Given the description of an element on the screen output the (x, y) to click on. 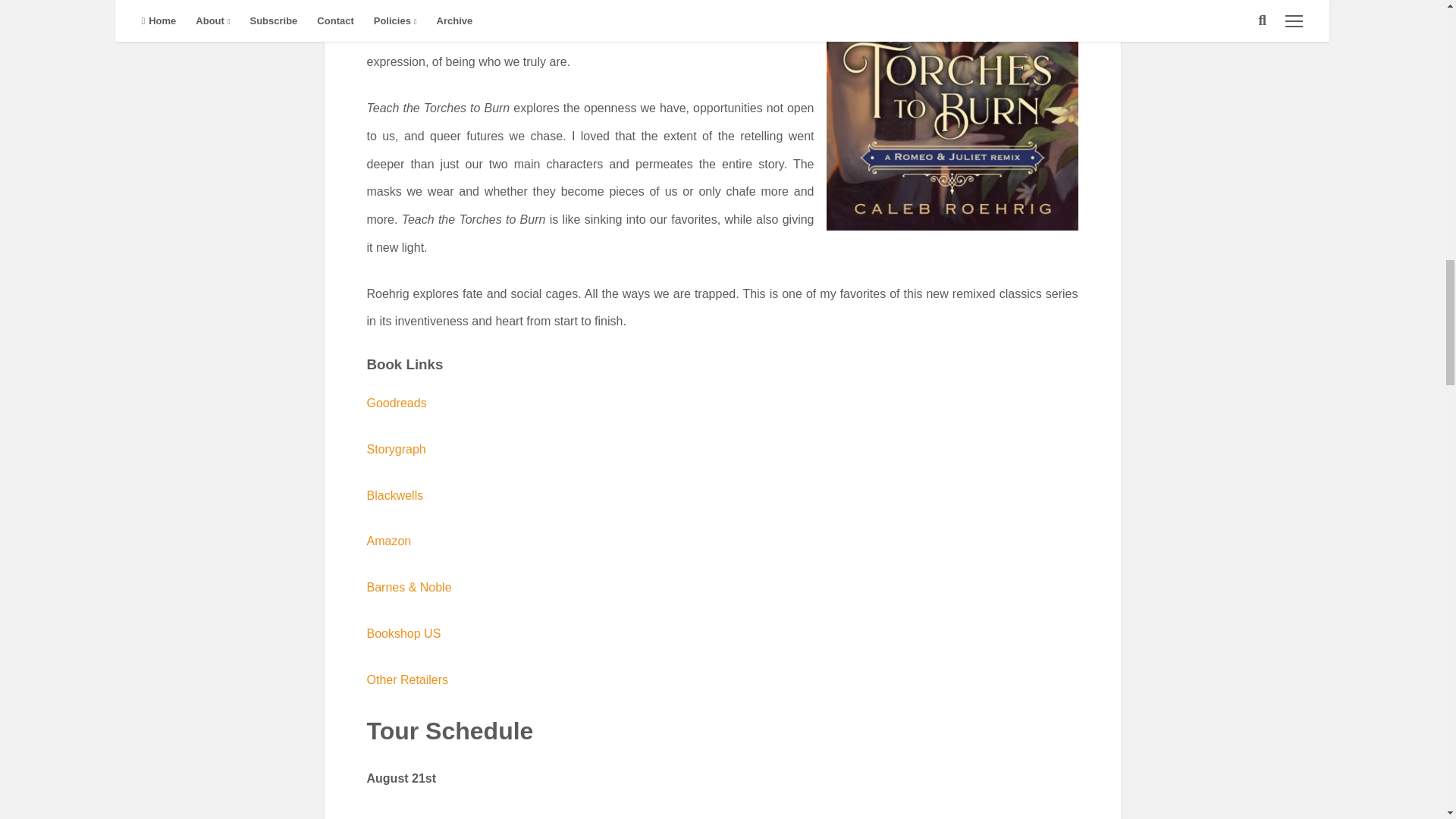
Amazon (389, 540)
Storygraph (396, 449)
Blackwells (394, 495)
Goodreads (396, 402)
Other Retailers (407, 679)
Bookshop US (403, 633)
